Given the description of an element on the screen output the (x, y) to click on. 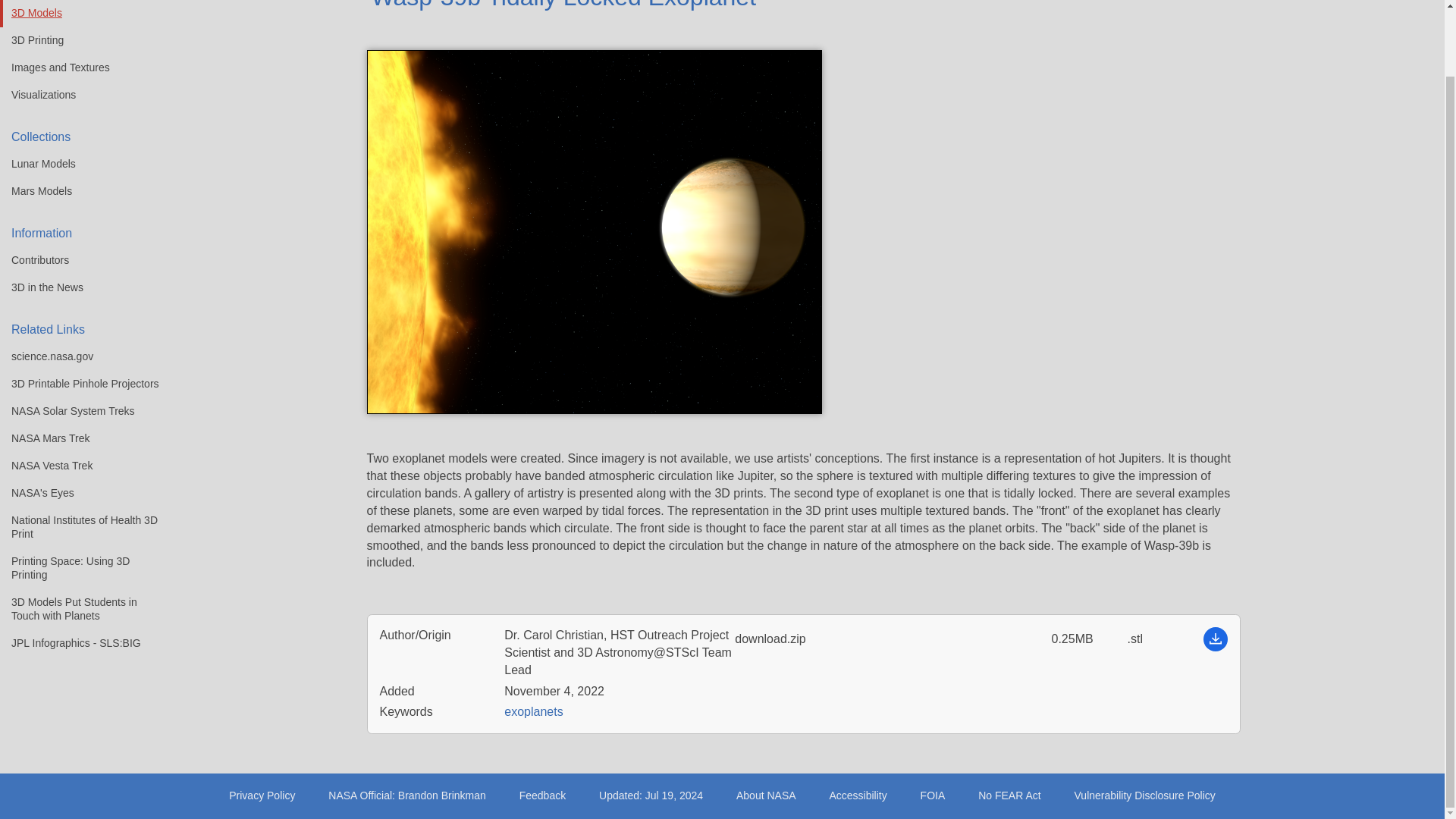
Mars Models (79, 191)
3D Models Put Students in Touch with Planets (79, 608)
Visualizations (79, 94)
Lunar Models (79, 164)
NASA Mars Trek (79, 438)
3D Models (79, 13)
NASA Solar System Treks (79, 411)
National Institutes of Health 3D Print (79, 526)
NASA's Eyes (79, 492)
Printing Space: Using 3D Printing (79, 567)
NASA Vesta Trek (79, 465)
3D Printing (79, 40)
Contributors (79, 260)
science.nasa.gov (79, 357)
